Given the description of an element on the screen output the (x, y) to click on. 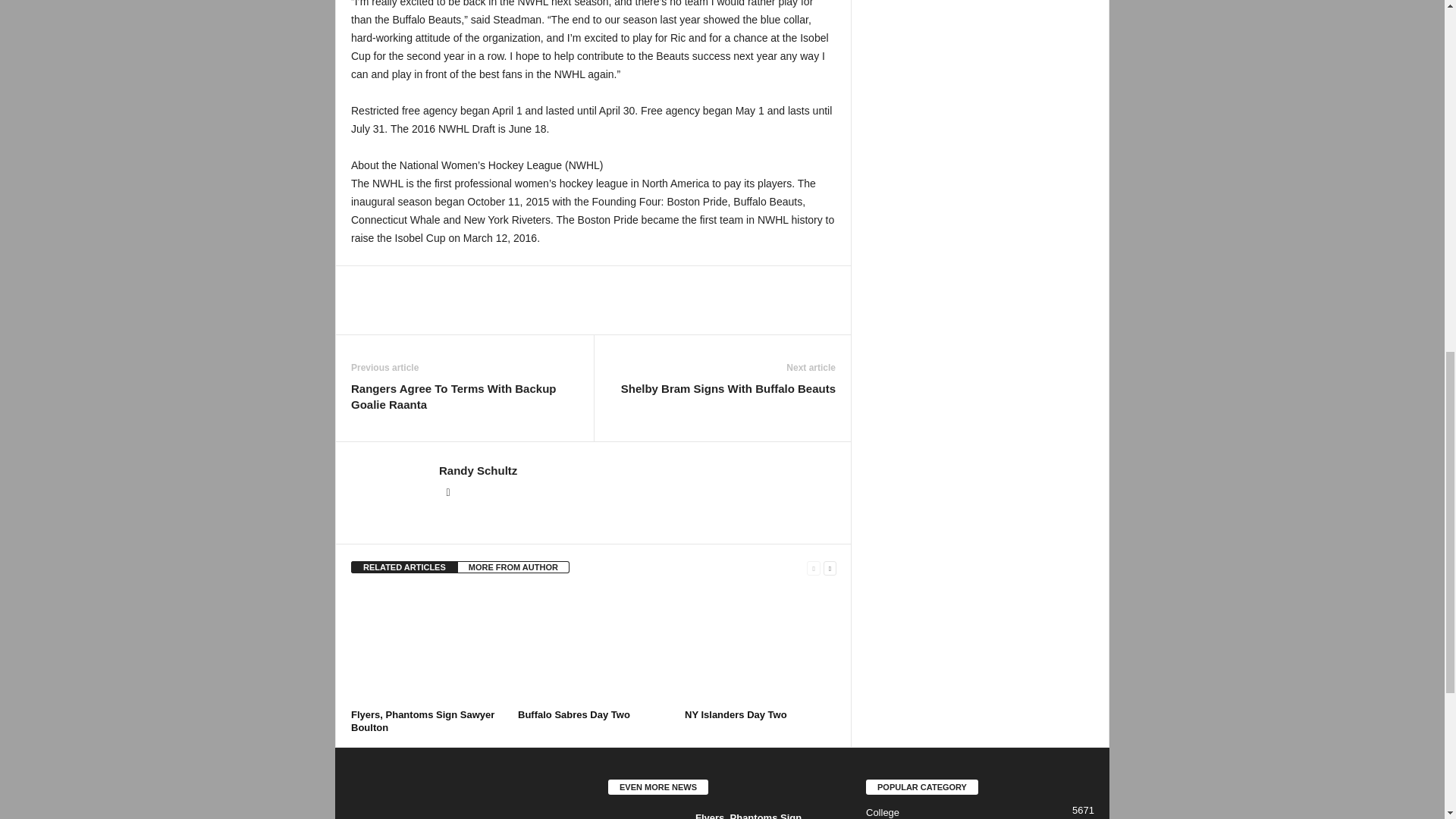
NY Islanders Day Two (759, 646)
Buffalo Sabres Day Two (574, 714)
Flyers, Phantoms Sign Sawyer Boulton (646, 815)
Facebook (448, 492)
Flyers, Phantoms Sign Sawyer Boulton (422, 721)
Flyers, Phantoms Sign Sawyer Boulton (426, 646)
NY Islanders Day Two (735, 714)
Buffalo Sabres Day Two (593, 646)
